Given the description of an element on the screen output the (x, y) to click on. 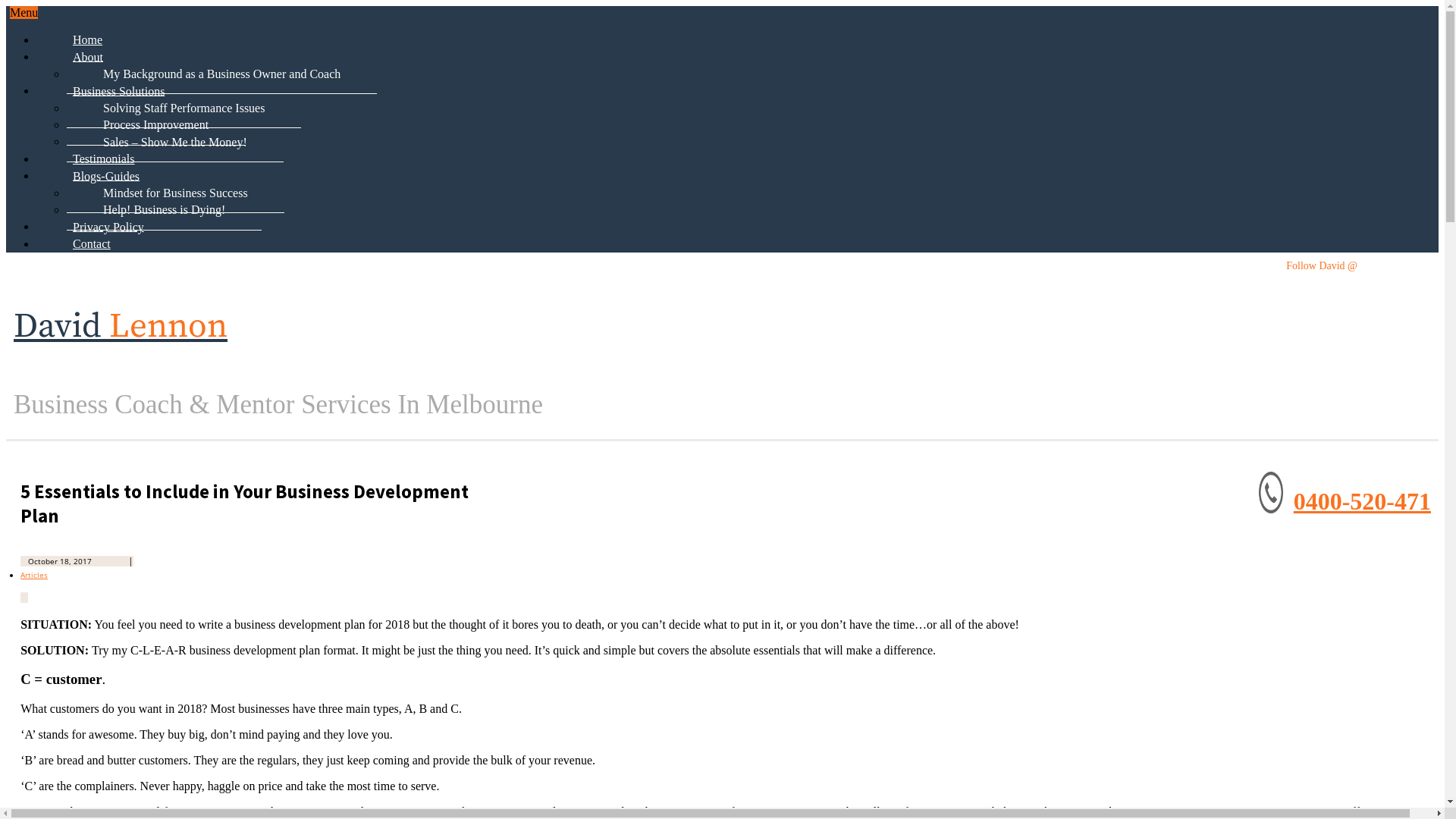
Business Solutions Element type: text (118, 90)
Blogs-Guides Element type: text (105, 175)
Testimonials Element type: text (103, 158)
My Background as a Business Owner and Coach Element type: text (221, 73)
Skip to content Element type: text (37, 5)
Help! Business is Dying! Element type: text (163, 209)
0400-520-471 Element type: text (1361, 500)
Solving Staff Performance Issues Element type: text (183, 107)
About Element type: text (87, 56)
Contact Element type: text (91, 243)
Articles Element type: text (33, 574)
Mindset for Business Success Element type: text (175, 192)
Privacy Policy Element type: text (108, 226)
Process Improvement Element type: text (155, 124)
David Lennon Element type: text (120, 326)
Home Element type: text (87, 39)
